Given the description of an element on the screen output the (x, y) to click on. 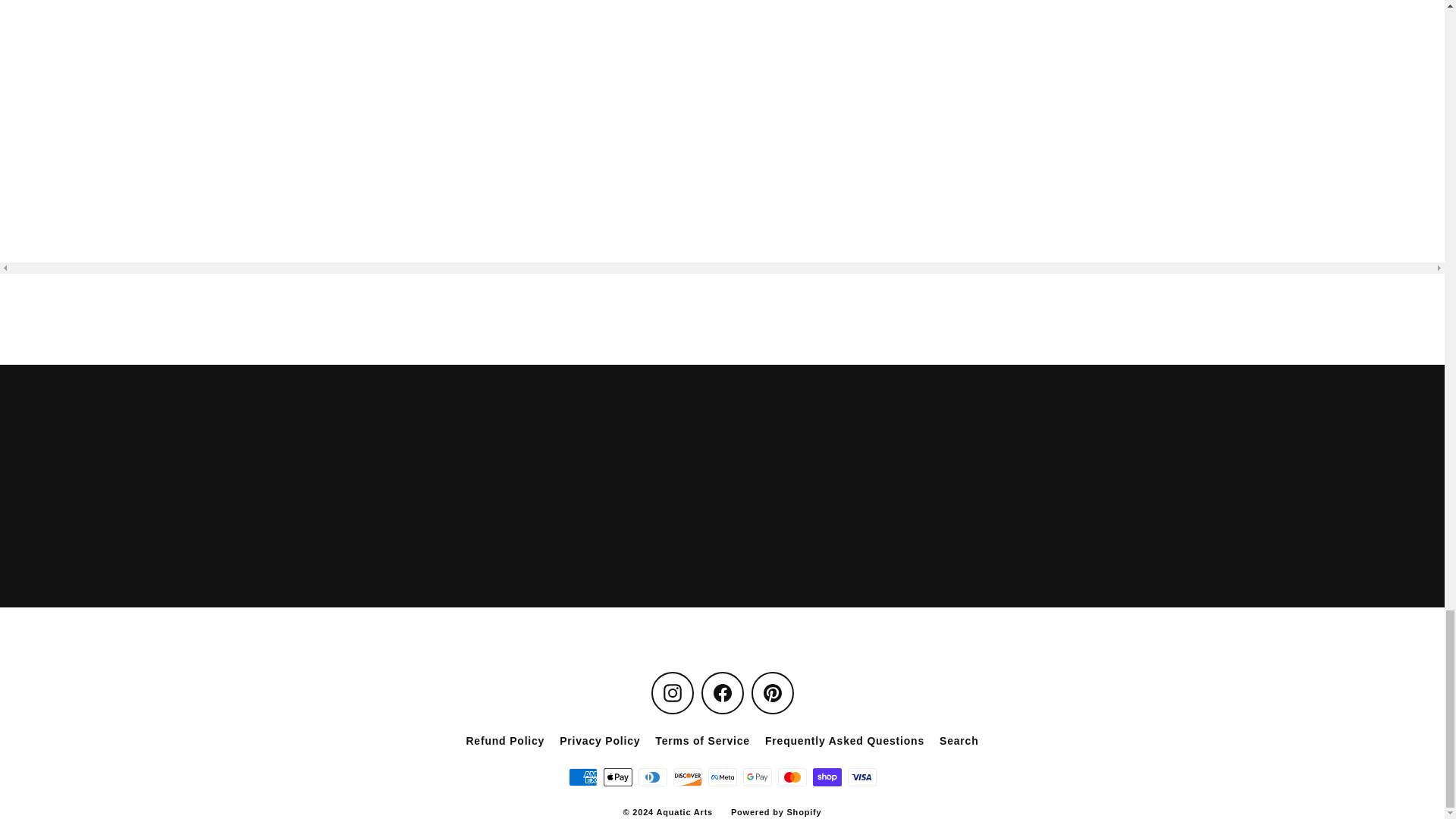
Aquatic Arts on Pinterest (772, 692)
Meta Pay (721, 777)
Discover (686, 777)
American Express (582, 777)
Google Pay (756, 777)
Aquatic Arts on Facebook (721, 692)
Mastercard (791, 777)
Shop Pay (826, 777)
Aquatic Arts on Instagram (671, 692)
Diners Club (652, 777)
Apple Pay (617, 777)
